Given the description of an element on the screen output the (x, y) to click on. 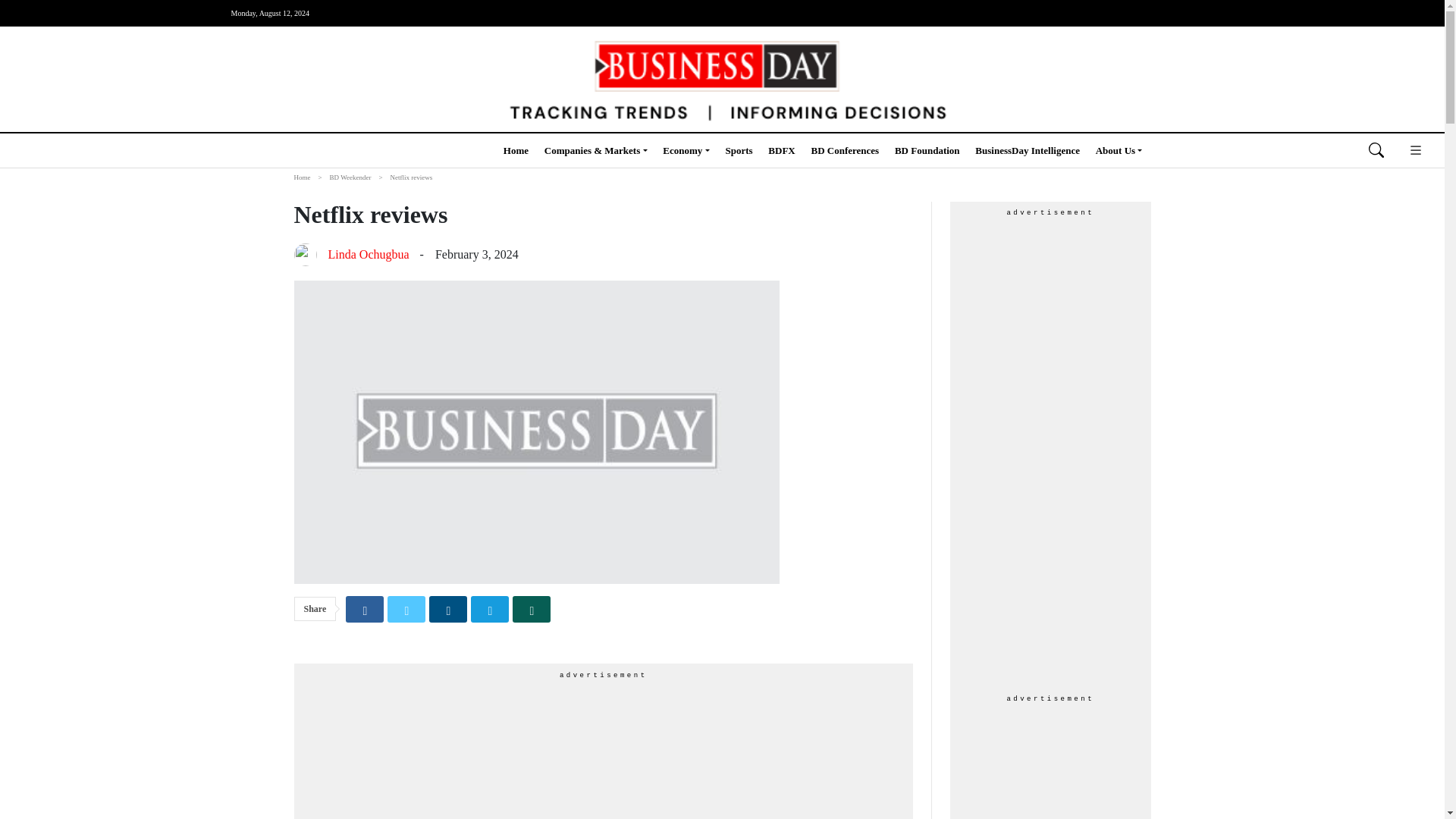
Economy (685, 149)
BusinessDay Intelligence (1027, 149)
About Us (1119, 149)
BD Foundation (927, 149)
About Us (1119, 149)
BusinessDay Intelligence (1027, 149)
BD Foundation (927, 149)
Economy (685, 149)
BD Conferences (844, 149)
BD Conferences (844, 149)
